Given the description of an element on the screen output the (x, y) to click on. 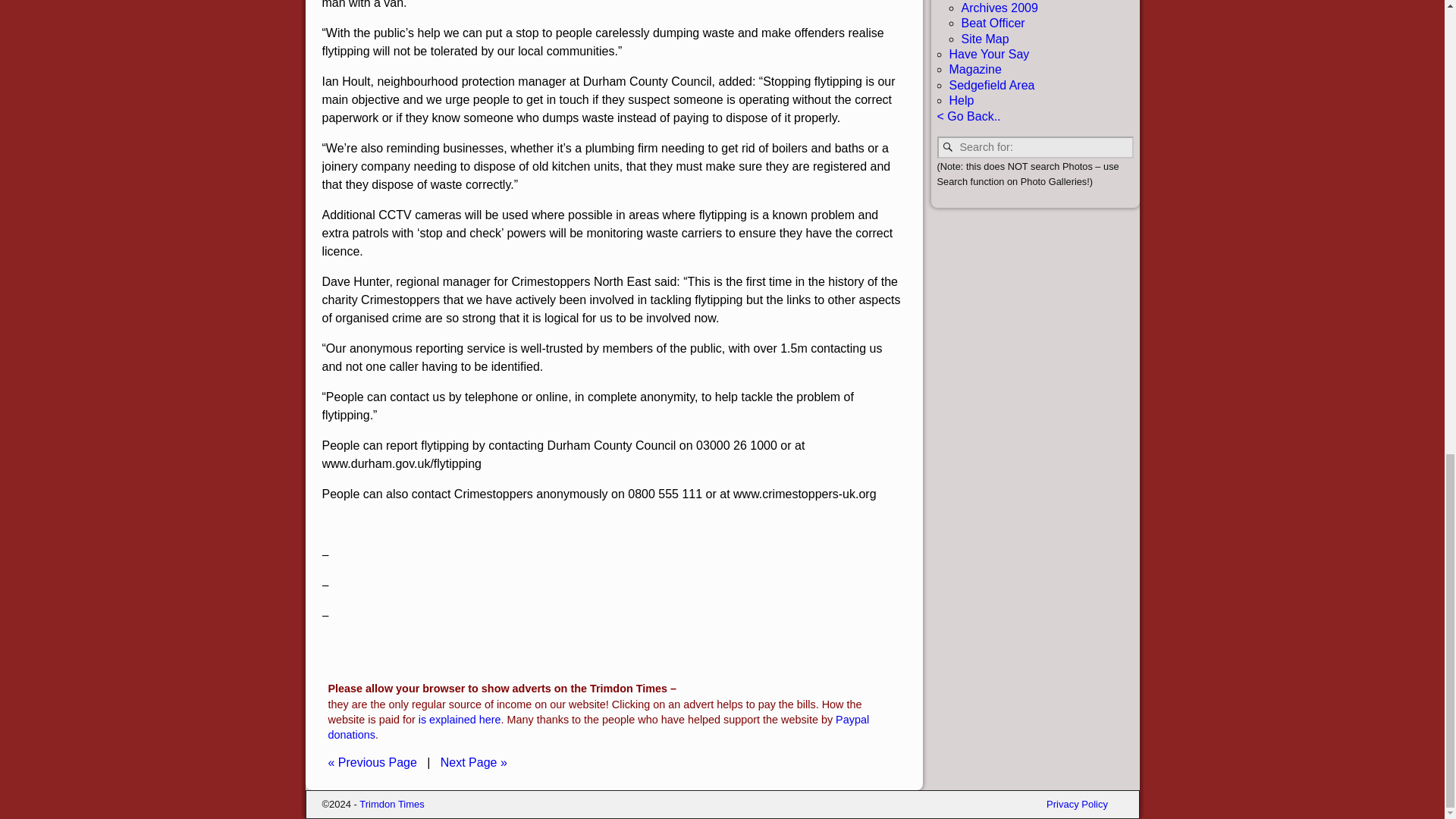
Paypal donations (598, 727)
is explained here (459, 719)
